Given the description of an element on the screen output the (x, y) to click on. 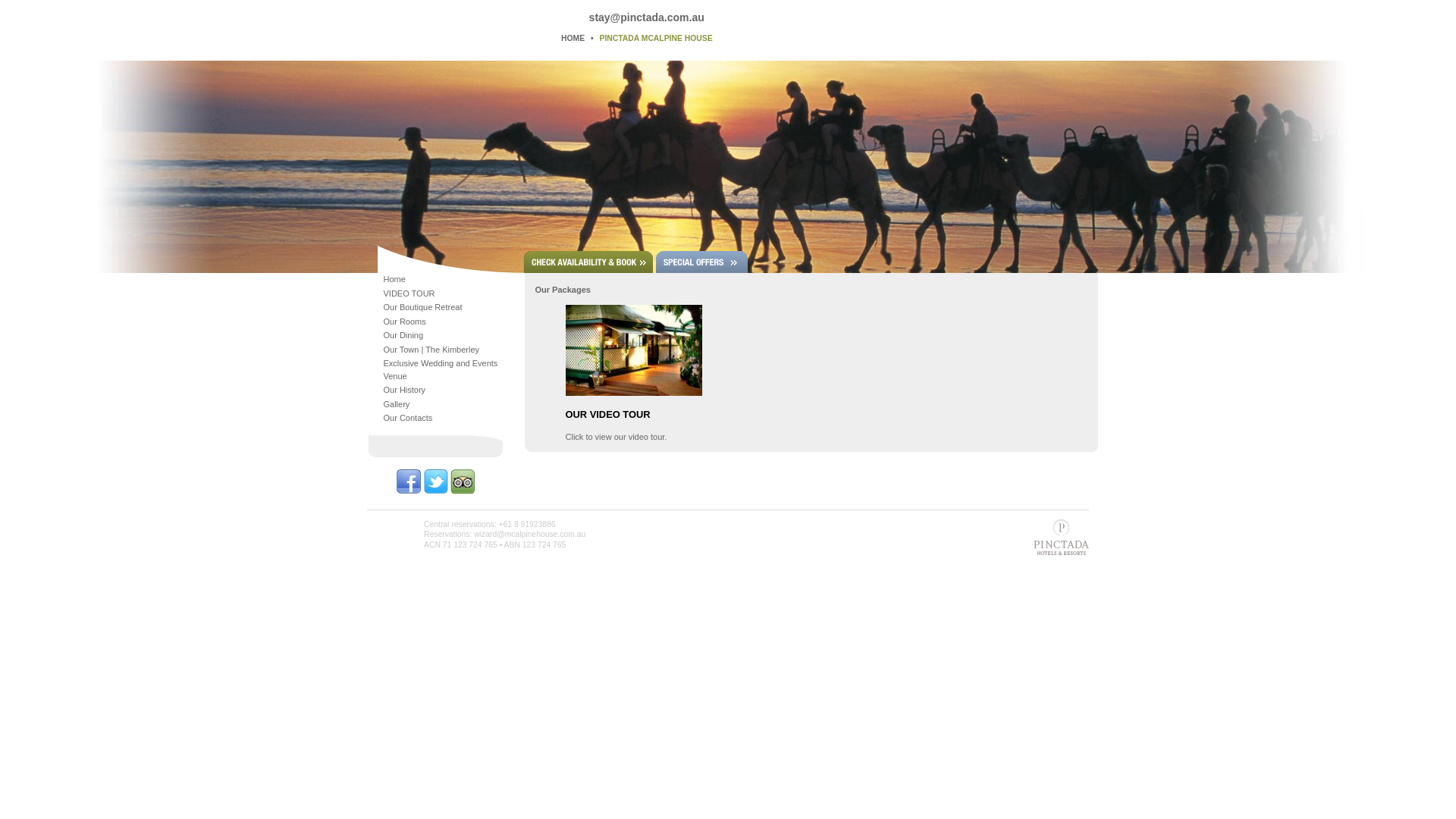
Our History Element type: text (404, 389)
Exclusive Wedding and Events Venue Element type: text (440, 369)
Our Town | The Kimberley Element type: text (431, 349)
HOME Element type: text (572, 38)
wizard@mcalpinehouse.com.au Element type: text (529, 534)
Home Element type: text (394, 278)
Our Dining Element type: text (403, 334)
Our Rooms Element type: text (404, 321)
VIDEO TOUR Element type: text (409, 293)
Our Contacts Element type: text (408, 417)
Our Boutique Retreat Element type: text (422, 306)
Gallery Element type: text (396, 403)
OUR VIDEO TOUR Element type: text (607, 414)
PINCTADA MCALPINE HOUSE Element type: text (655, 38)
